Given the description of an element on the screen output the (x, y) to click on. 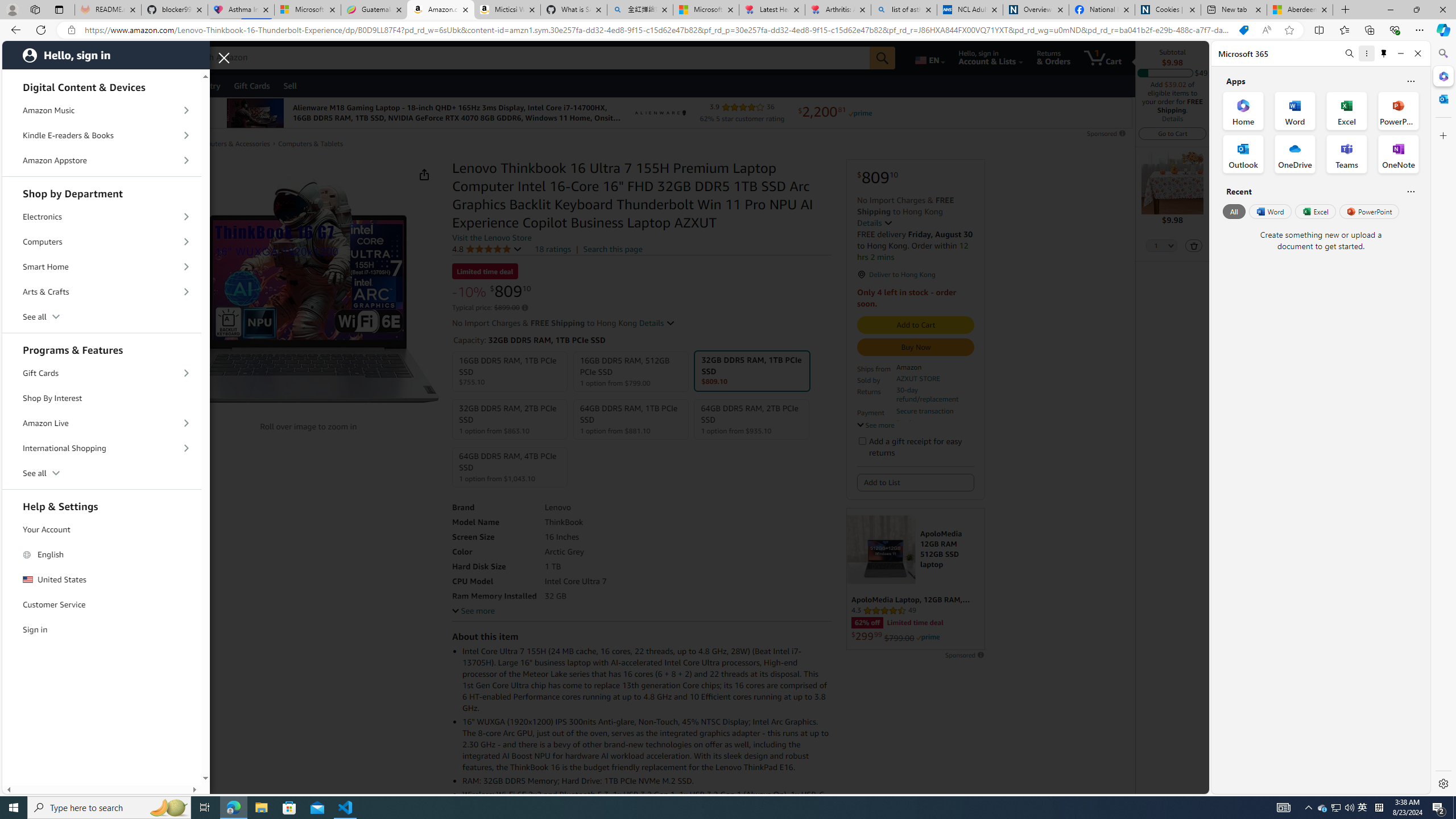
Arts & Crafts (101, 292)
United States (101, 579)
Hello, sign in Account & Lists (991, 57)
Choose a language for shopping. (929, 57)
Excel (1315, 210)
Kindle E-readers & Books (101, 135)
32GB DDR5 RAM, 2TB PCIe SSD 1 option from $863.10 (509, 418)
Amazon Music (101, 110)
Word (1269, 210)
Sign in (101, 629)
Smart Home (101, 266)
Amazon Appstore (101, 159)
